Given the description of an element on the screen output the (x, y) to click on. 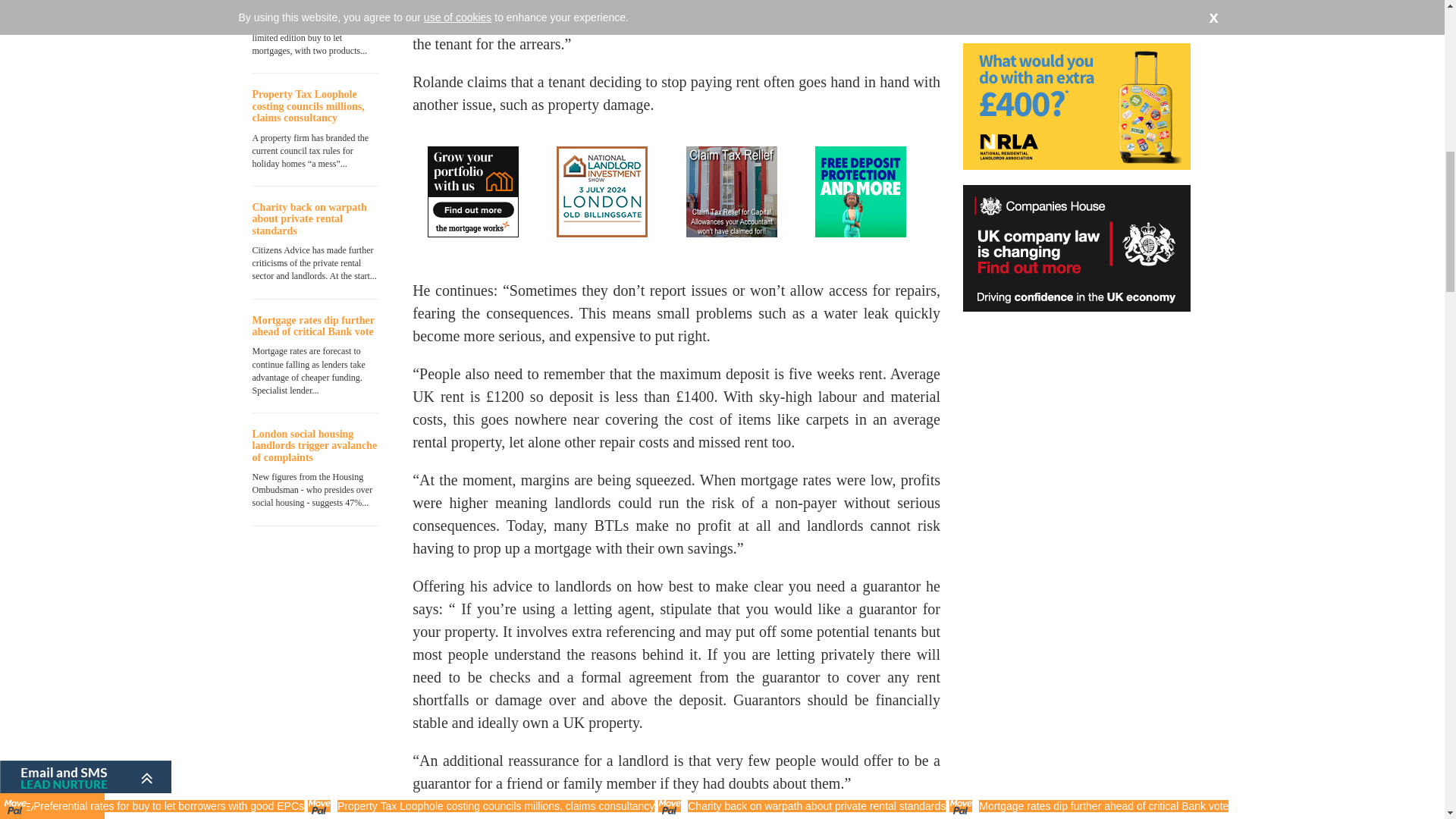
National Landlord Investment Show (601, 191)
Tenancy Deposit Scheme (860, 191)
HMO (731, 191)
